Given the description of an element on the screen output the (x, y) to click on. 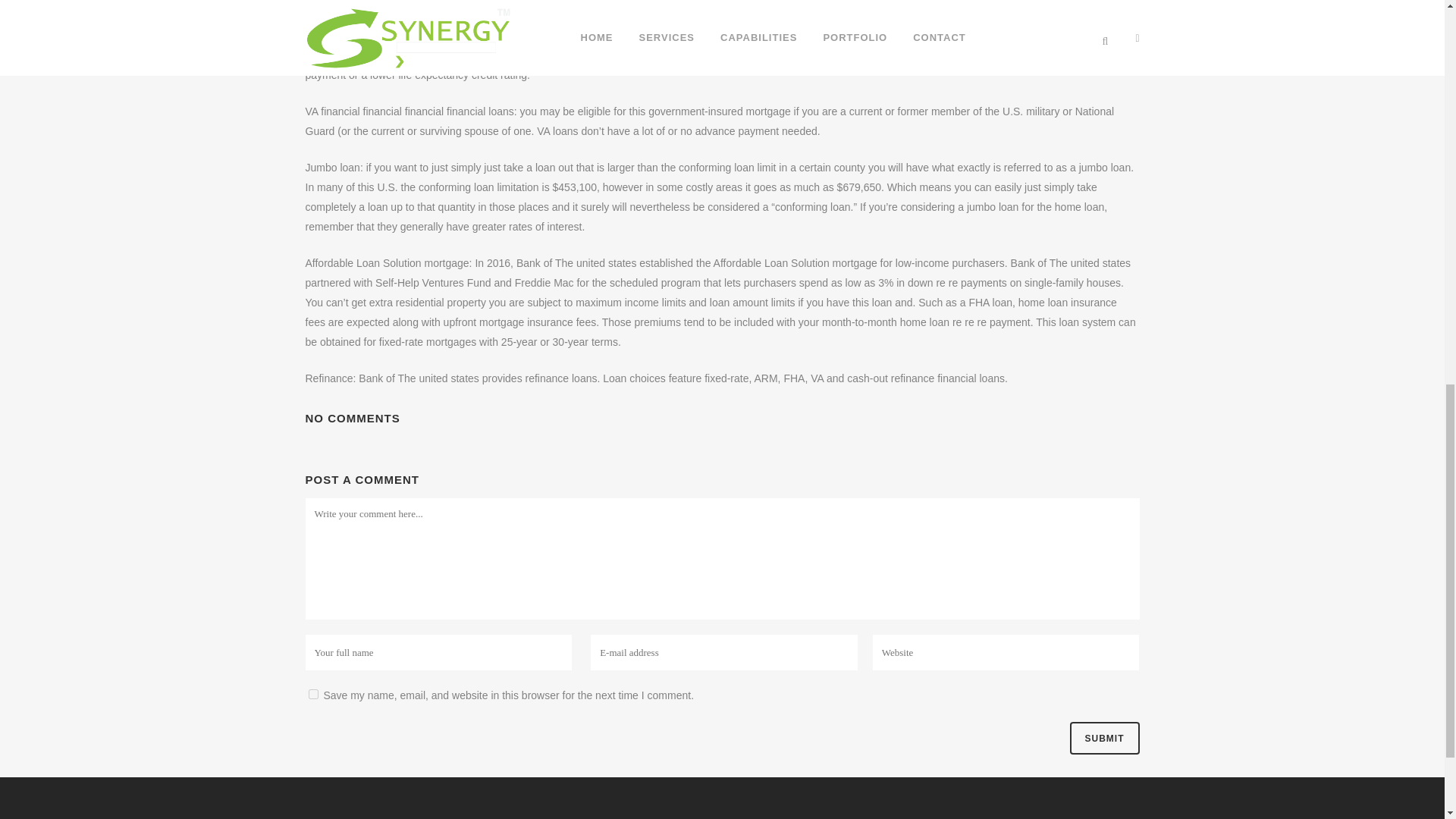
Submit (1103, 737)
Submit (1103, 737)
yes (312, 694)
